Given the description of an element on the screen output the (x, y) to click on. 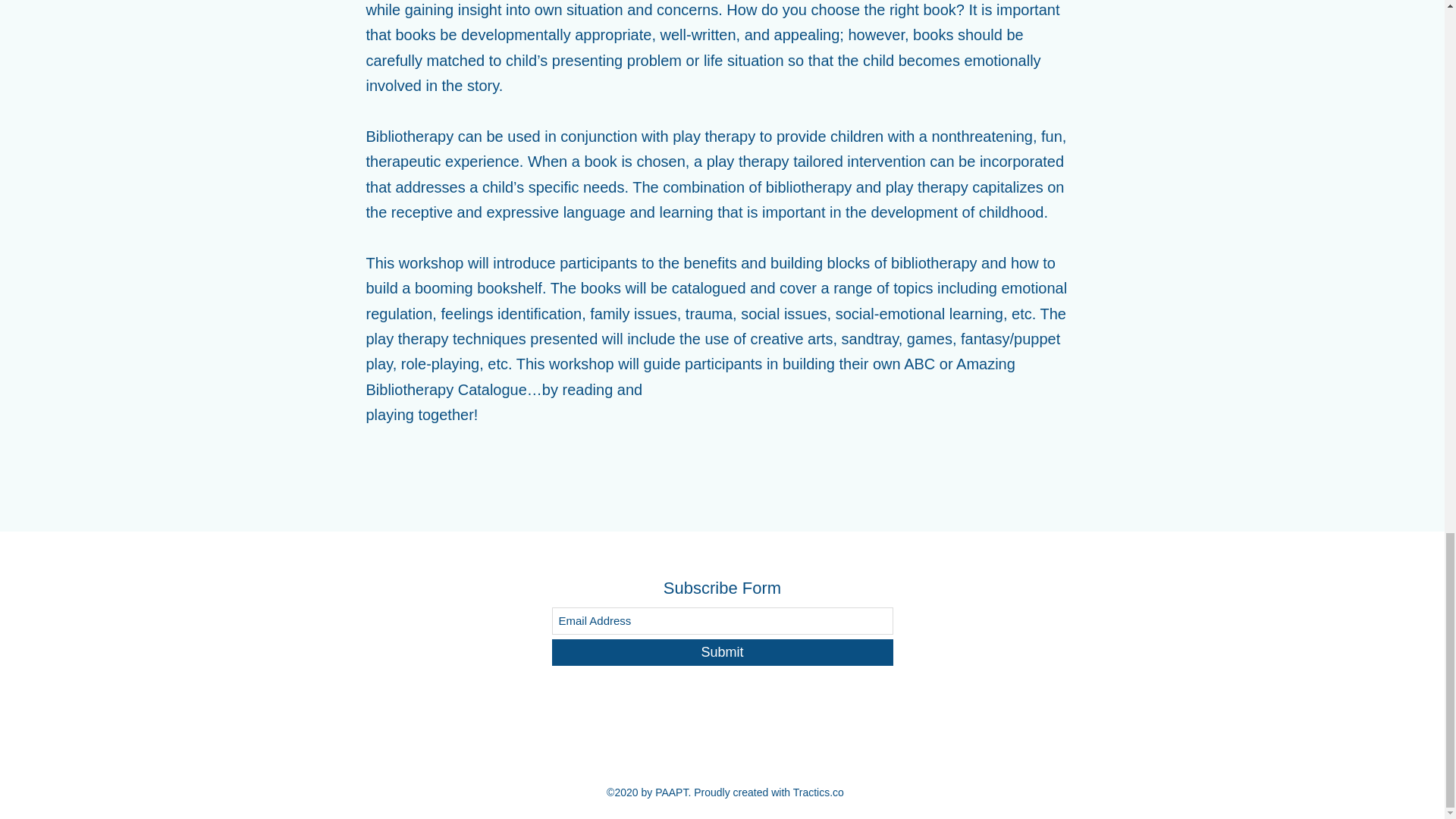
Submit (722, 652)
